Given the description of an element on the screen output the (x, y) to click on. 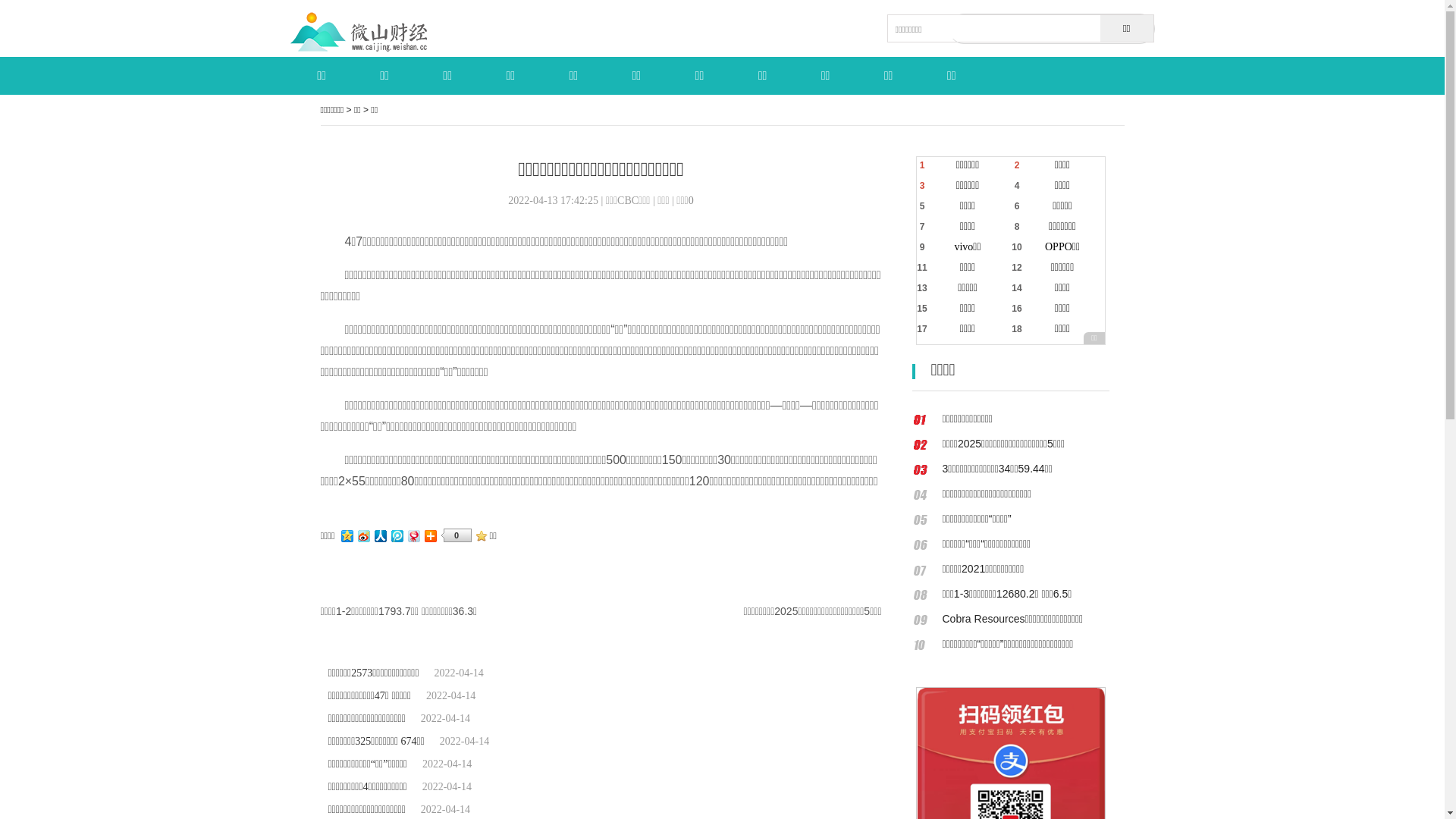
0 Element type: text (690, 200)
